Given the description of an element on the screen output the (x, y) to click on. 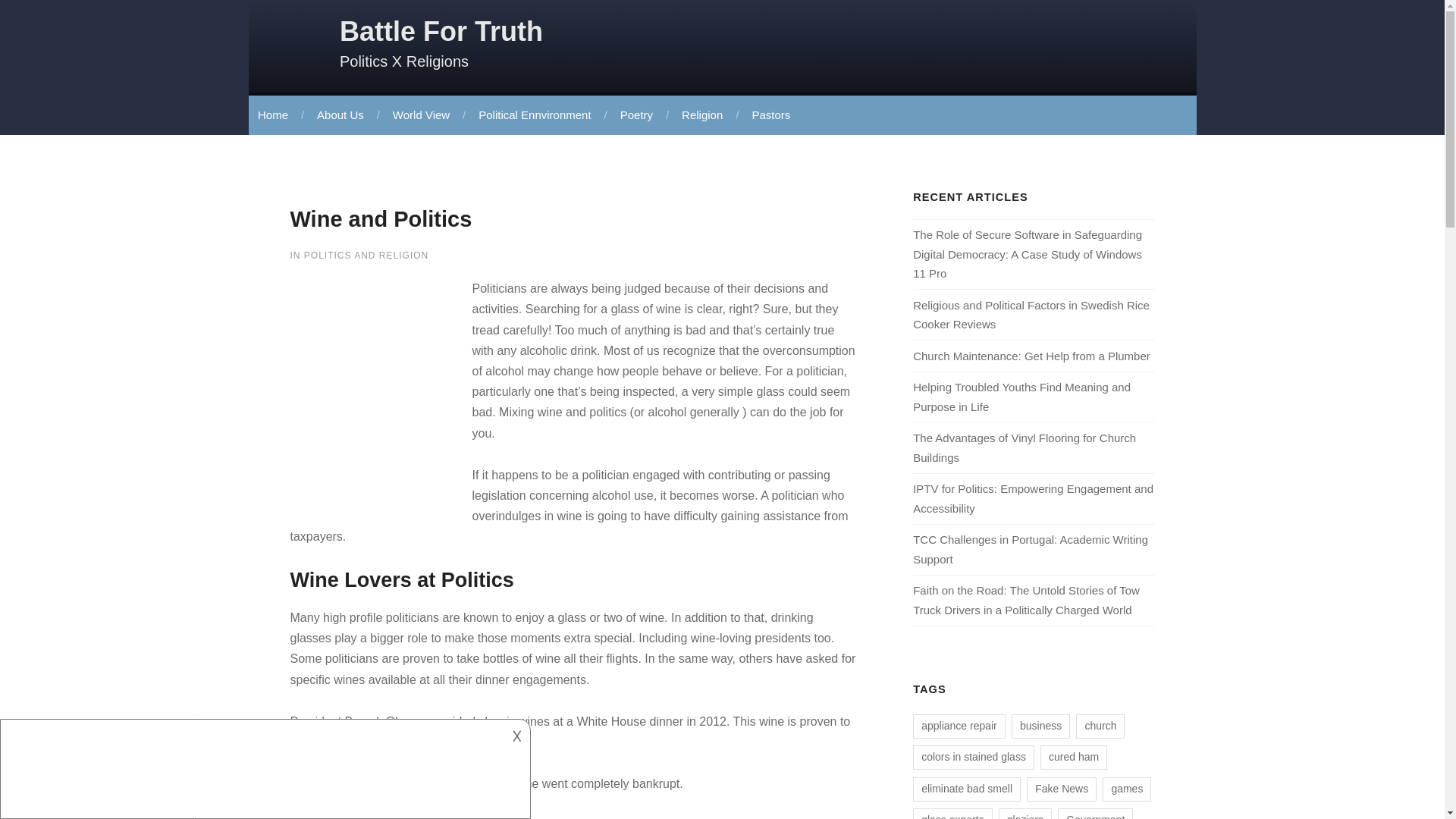
Home (272, 115)
Battle For Truth (441, 30)
About Us (338, 115)
Pastors (769, 115)
Politics X Religions (403, 61)
The Advantages of Vinyl Flooring for Church Buildings (1023, 447)
POLITICS AND RELIGION (366, 255)
TCC Challenges in Portugal: Academic Writing Support (1030, 549)
Church Maintenance: Get Help from a Plumber (1031, 355)
World View (419, 115)
Religion (699, 115)
IPTV for Politics: Empowering Engagement and Accessibility (1032, 498)
description (252, 757)
